Given the description of an element on the screen output the (x, y) to click on. 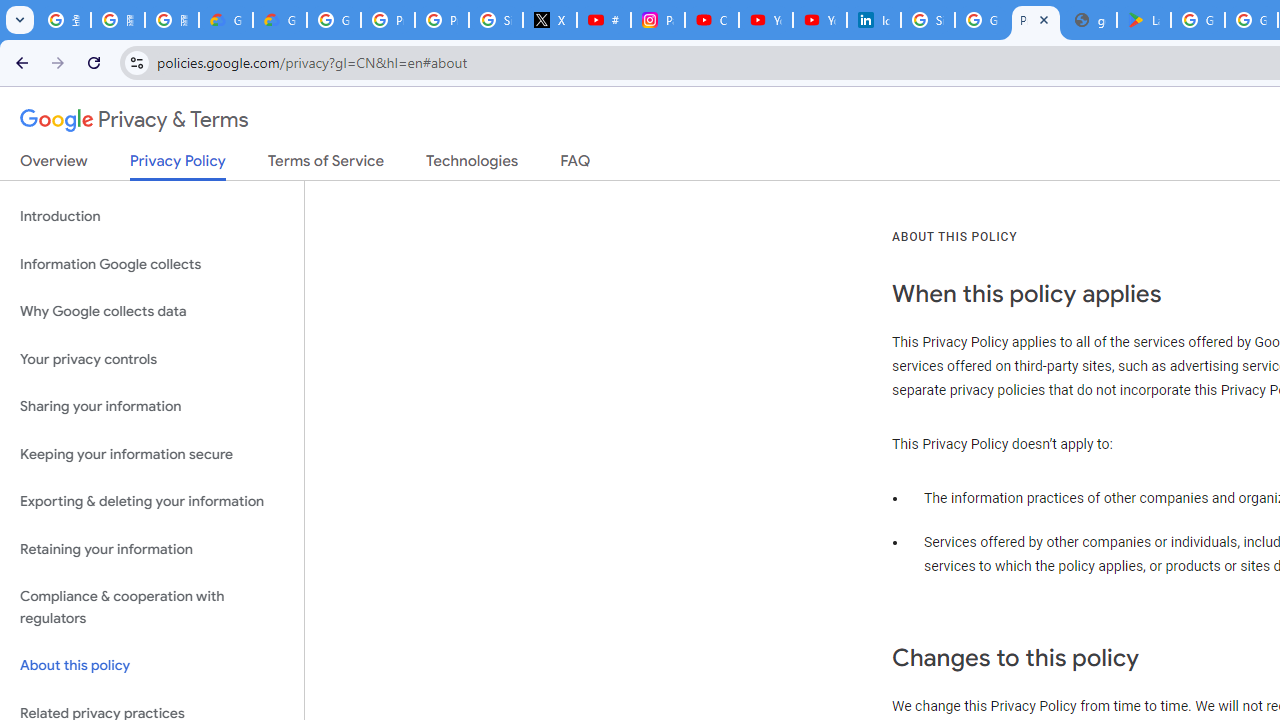
Google Cloud Privacy Notice (280, 20)
X (550, 20)
Google Cloud Privacy Notice (225, 20)
#nbabasketballhighlights - YouTube (604, 20)
Last Shelter: Survival - Apps on Google Play (1144, 20)
